Given the description of an element on the screen output the (x, y) to click on. 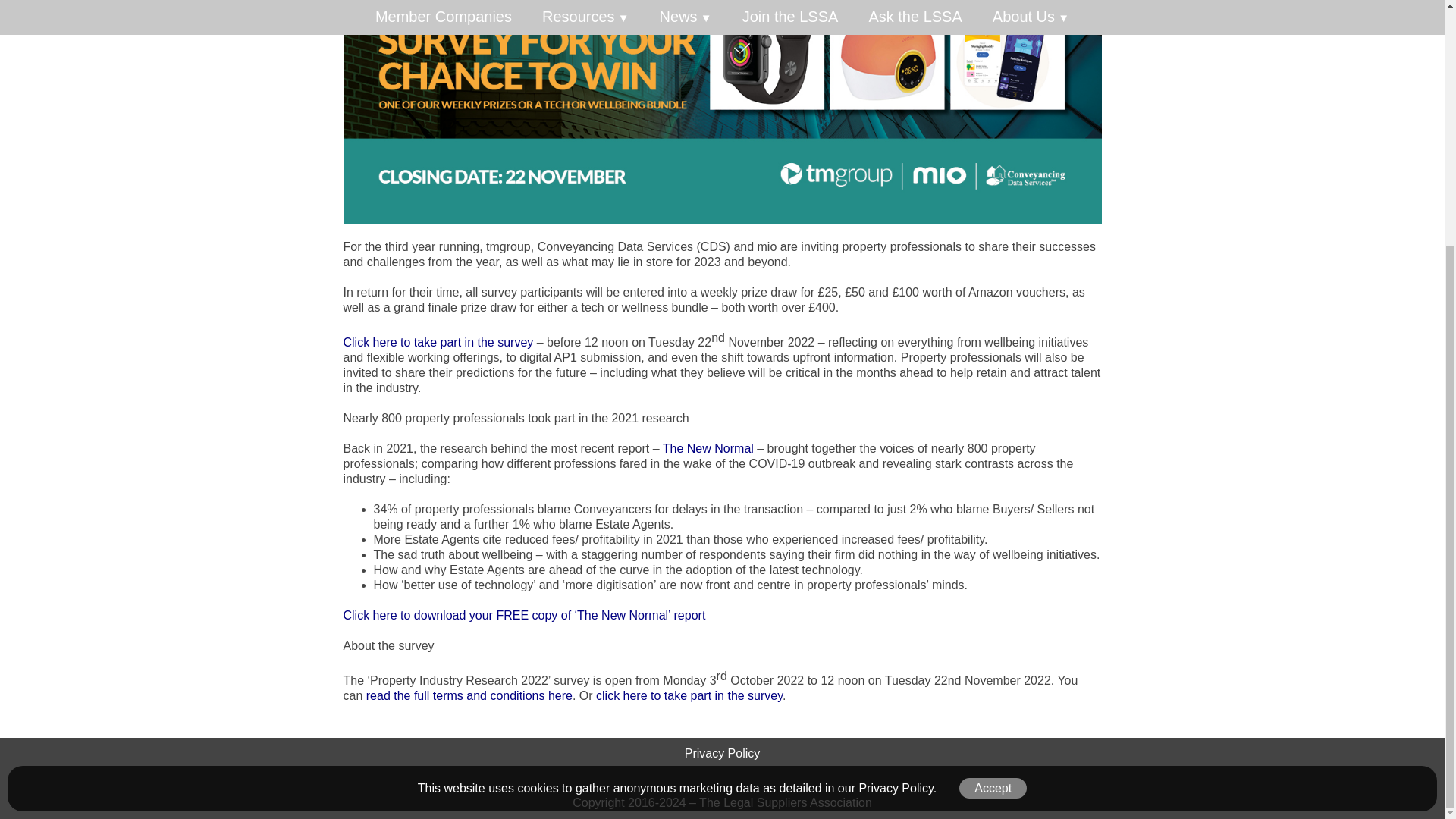
Privacy Policy (722, 753)
Privacy Policy (896, 445)
click here to take part in the survey (689, 695)
Accept (992, 445)
The New Normal (708, 448)
Click here to take part in the survey (437, 341)
read the full terms and conditions here (469, 695)
